Given the description of an element on the screen output the (x, y) to click on. 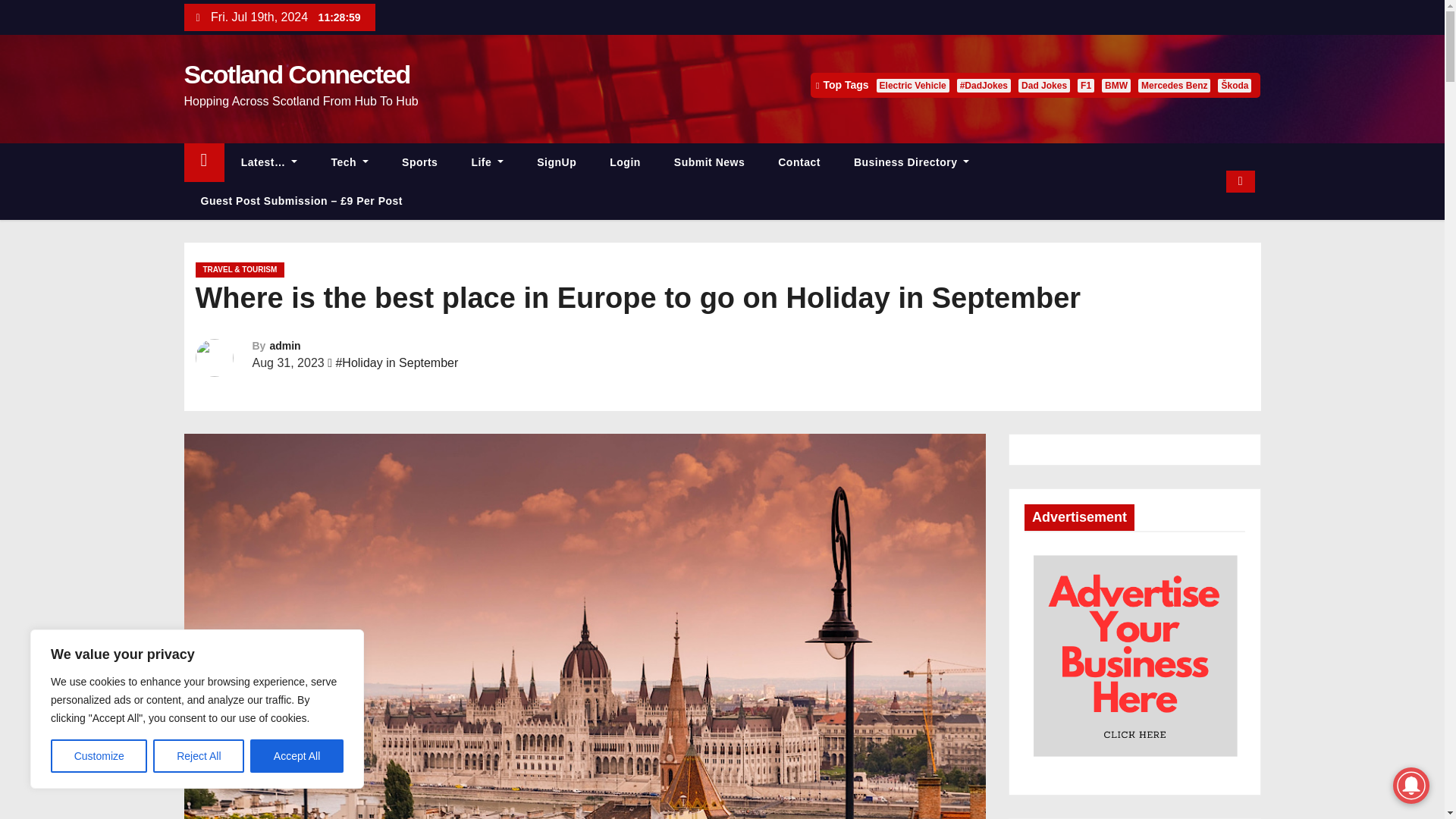
Scotland Connected (296, 73)
Life (486, 162)
Tech (349, 162)
SignUp (555, 162)
Sports (419, 162)
BMW (1116, 85)
Accept All (296, 756)
Dad Jokes (1043, 85)
Electric Vehicle (912, 85)
F1 (1085, 85)
Life (486, 162)
Mercedes Benz (1173, 85)
Sports (419, 162)
Tech (349, 162)
Customize (98, 756)
